Given the description of an element on the screen output the (x, y) to click on. 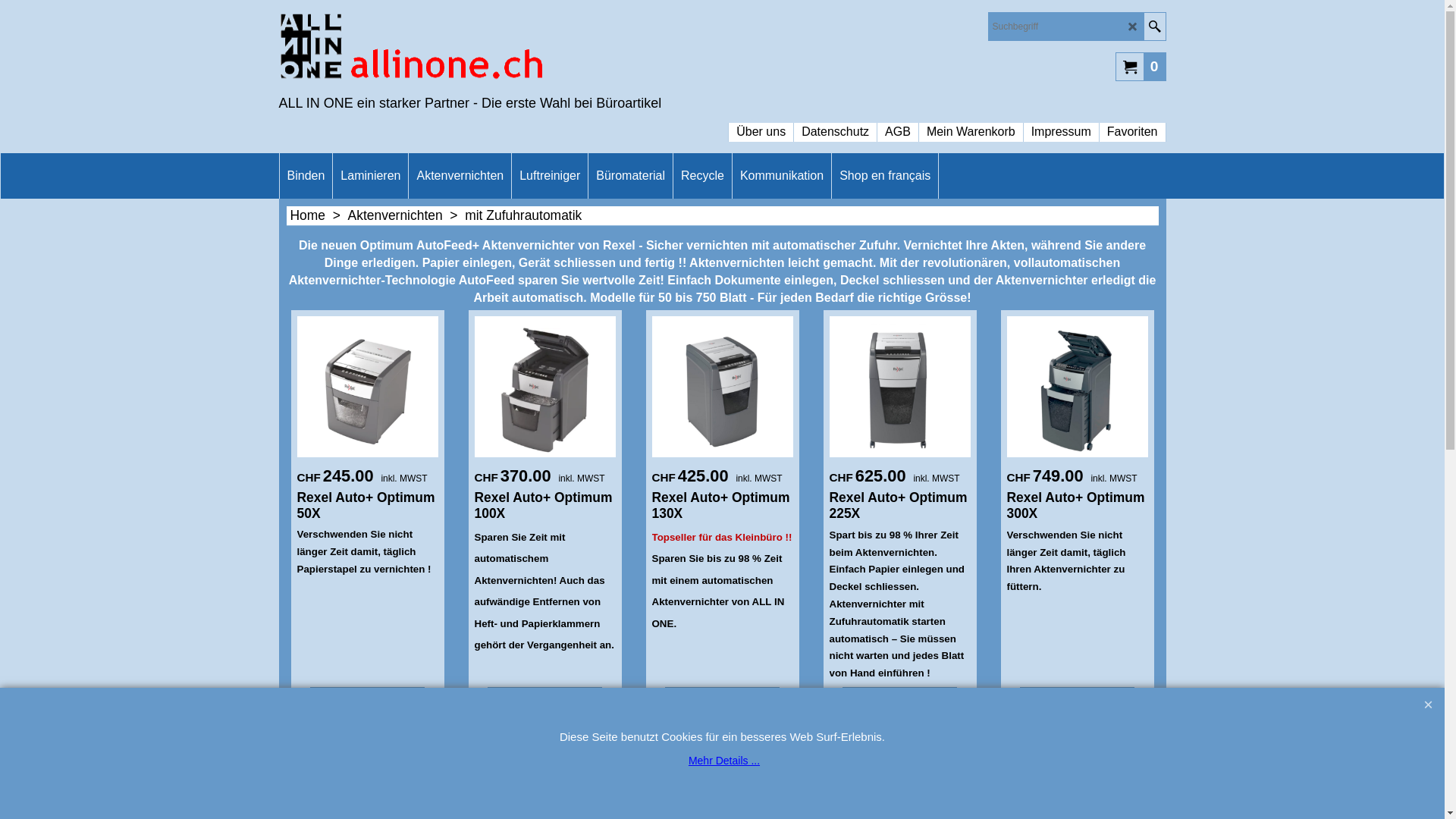
0 Element type: text (1140, 65)
Mein Warenkorb Element type: text (970, 124)
Favoriten Element type: text (1132, 124)
Mehr Infos Element type: text (1076, 701)
Rexel Auto+ Optimum 130X Element type: hover (722, 386)
Home  >  Element type: text (318, 214)
Rexel Auto+ Optimum 225X Element type: text (899, 505)
Rexel Auto+ Optimum 100X Element type: hover (544, 386)
Rexel Auto+ Optimum 225X Element type: hover (899, 386)
Rexel Auto+ Optimum 130X Element type: text (722, 505)
Aktenvernichten  >  Element type: text (406, 214)
Mehr Infos Element type: text (367, 701)
Suche Element type: hover (1154, 26)
Aktenvernichten Element type: text (459, 175)
Rexel Auto+ Optimum 100X Element type: text (544, 505)
Binden Element type: text (305, 175)
LD_CANCEL Element type: hover (1132, 26)
Mehr Infos Element type: text (544, 701)
Kommunikation Element type: text (781, 175)
Rexel Auto+ Optimum 50X Element type: hover (367, 386)
Mehr Details ... Element type: text (723, 760)
Impressum Element type: text (1060, 124)
Recycle Element type: text (702, 175)
Laminieren Element type: text (369, 175)
Rexel Auto+ Optimum 300X Element type: hover (1077, 386)
Mehr Infos Element type: text (899, 701)
AGB Element type: text (897, 124)
Rexel Auto+ Optimum 50X Element type: text (367, 505)
Datenschutz Element type: text (834, 124)
Mehr Infos Element type: text (722, 701)
Rexel Auto+ Optimum 300X Element type: text (1077, 505)
Luftreiniger Element type: text (549, 175)
ALL IN ONE Element type: hover (411, 49)
